Given the description of an element on the screen output the (x, y) to click on. 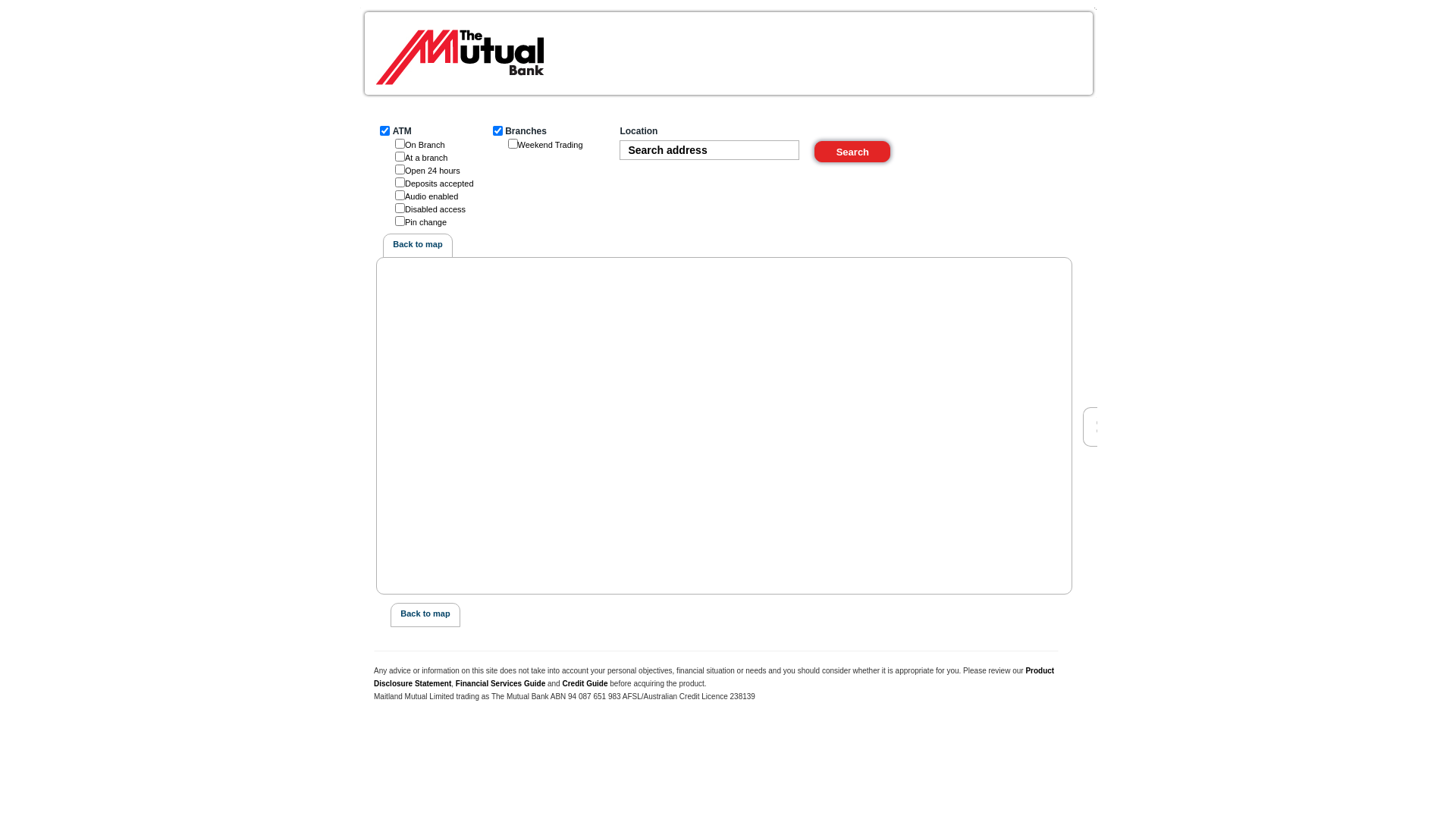
Back to map Element type: text (424, 613)
Back to map Element type: text (417, 243)
Search Element type: hover (852, 151)
Product Disclosure Statement Element type: text (713, 676)
Credit Guide Element type: text (585, 683)
Financial Services Guide Element type: text (500, 683)
